Given the description of an element on the screen output the (x, y) to click on. 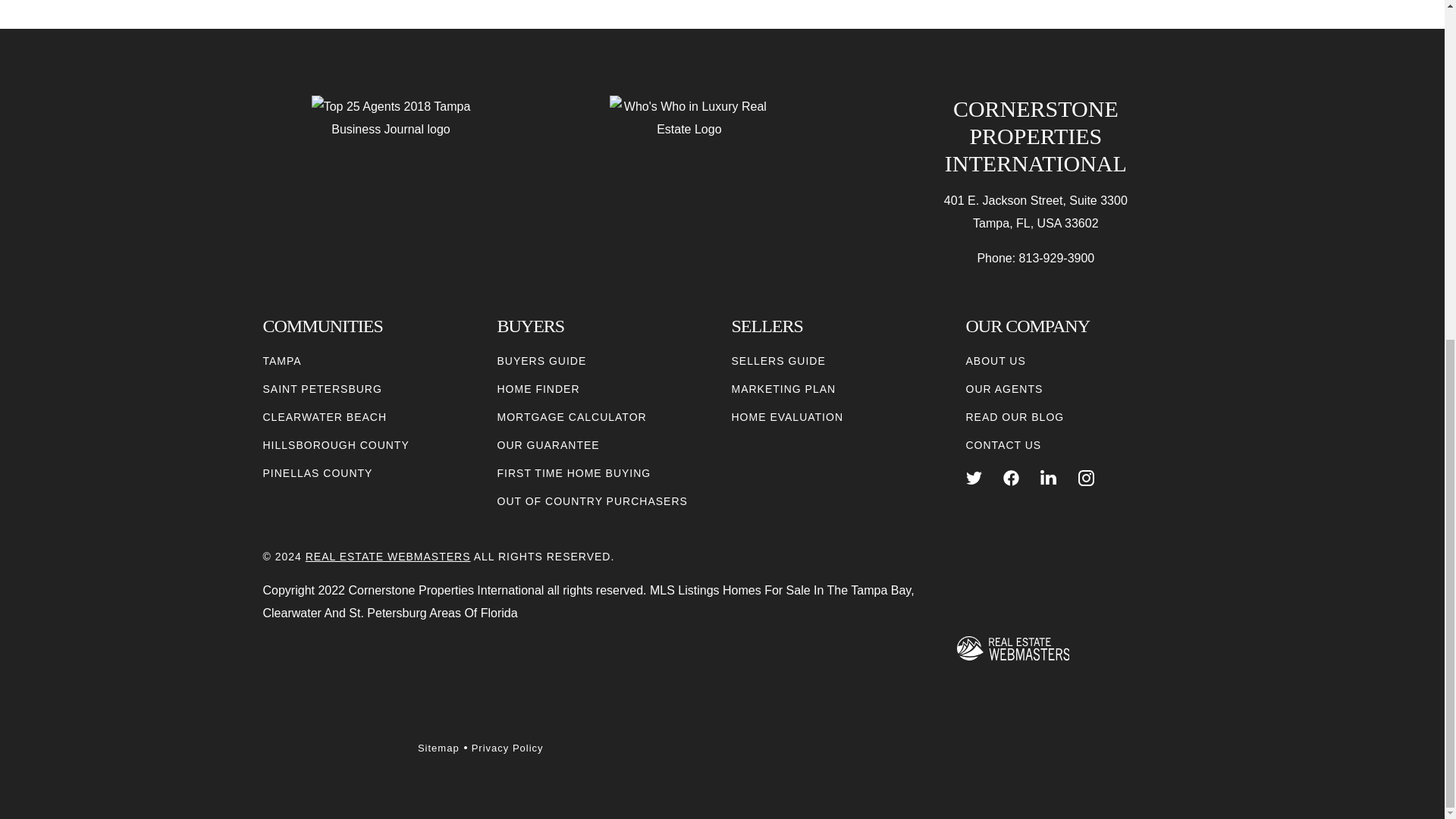
Phone: 813-929-3900 (1035, 258)
SAINT PETERSBURG (321, 389)
LINKEDIN (1049, 478)
CLEARWATER BEACH (324, 417)
TAMPA (281, 360)
TWITTER (973, 478)
FACEBOOK (1011, 478)
